Given the description of an element on the screen output the (x, y) to click on. 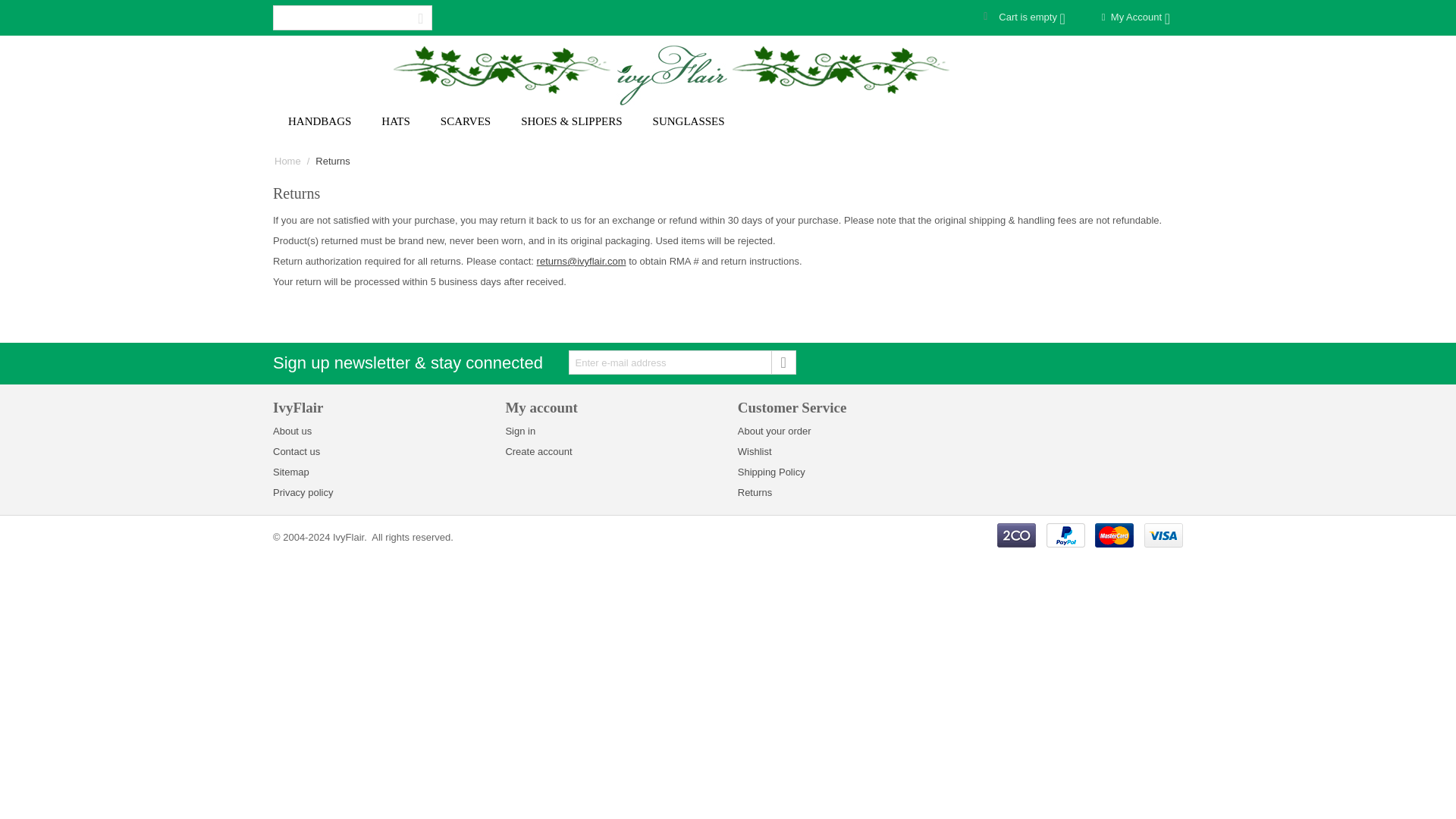
Create account (538, 451)
About your order (774, 430)
SCARVES (465, 122)
Enter e-mail address (682, 362)
Returns (755, 491)
IvyFlair (671, 73)
Shipping Policy (771, 471)
HATS (395, 122)
Search products (352, 17)
  My Account (1135, 16)
